Given the description of an element on the screen output the (x, y) to click on. 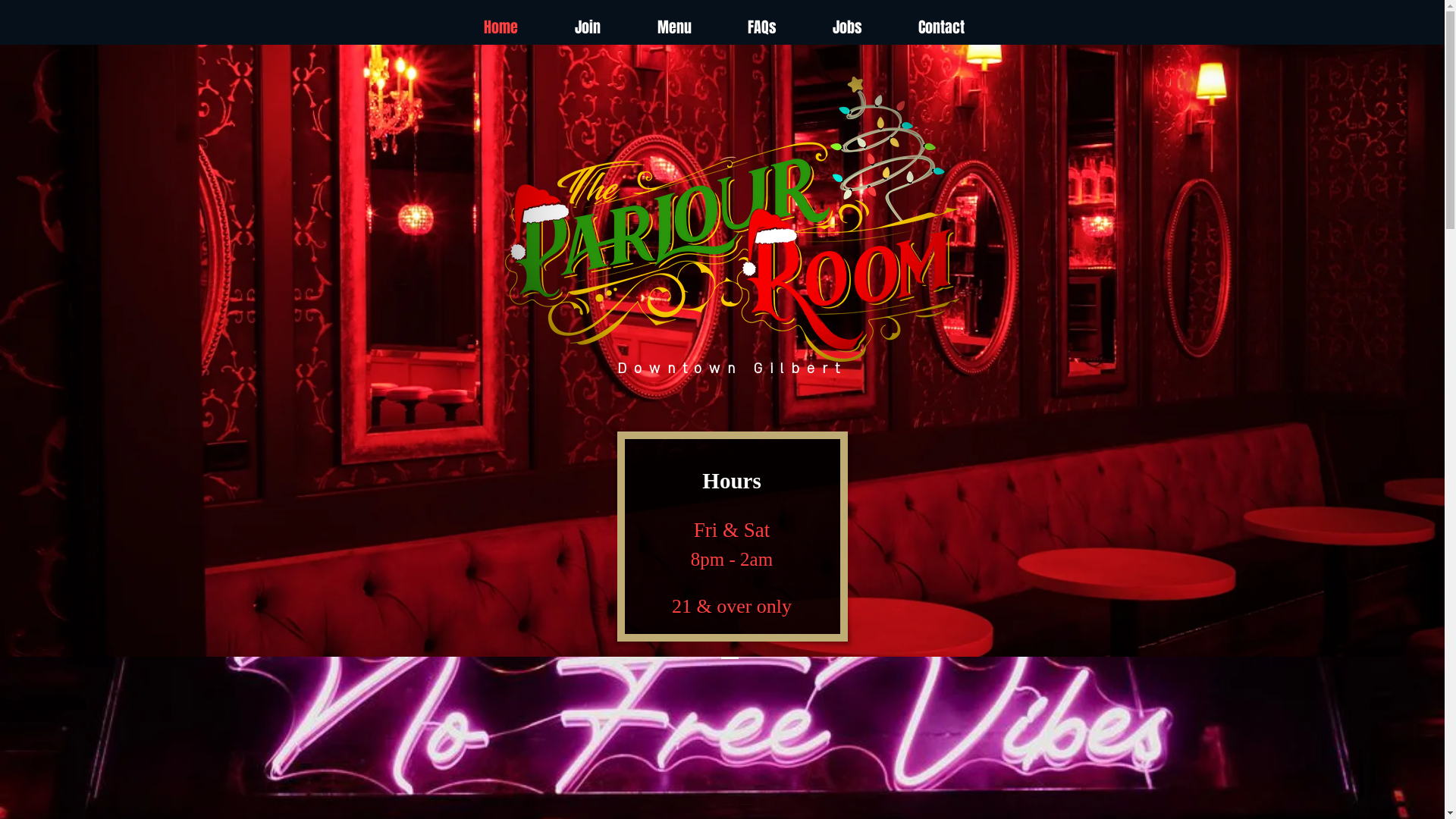
FAQs Element type: text (760, 27)
Join Element type: text (587, 27)
Menu Element type: text (674, 27)
Contact Element type: text (941, 27)
Home Element type: text (500, 27)
Jobs Element type: text (846, 27)
